Given the description of an element on the screen output the (x, y) to click on. 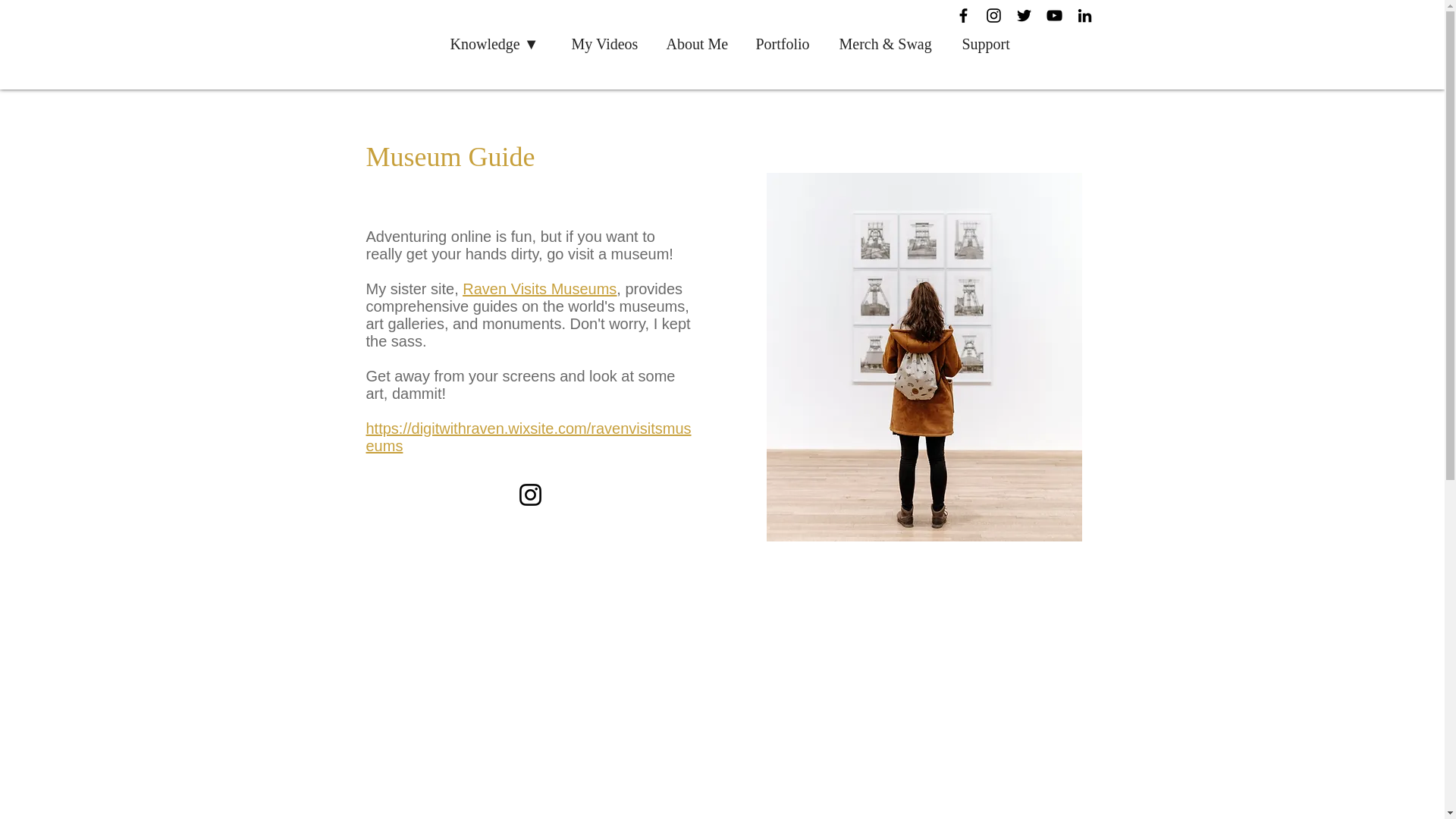
Portfolio (786, 44)
My Videos (608, 44)
Raven Visits Museums (539, 288)
Support (989, 44)
About Me (699, 44)
